Given the description of an element on the screen output the (x, y) to click on. 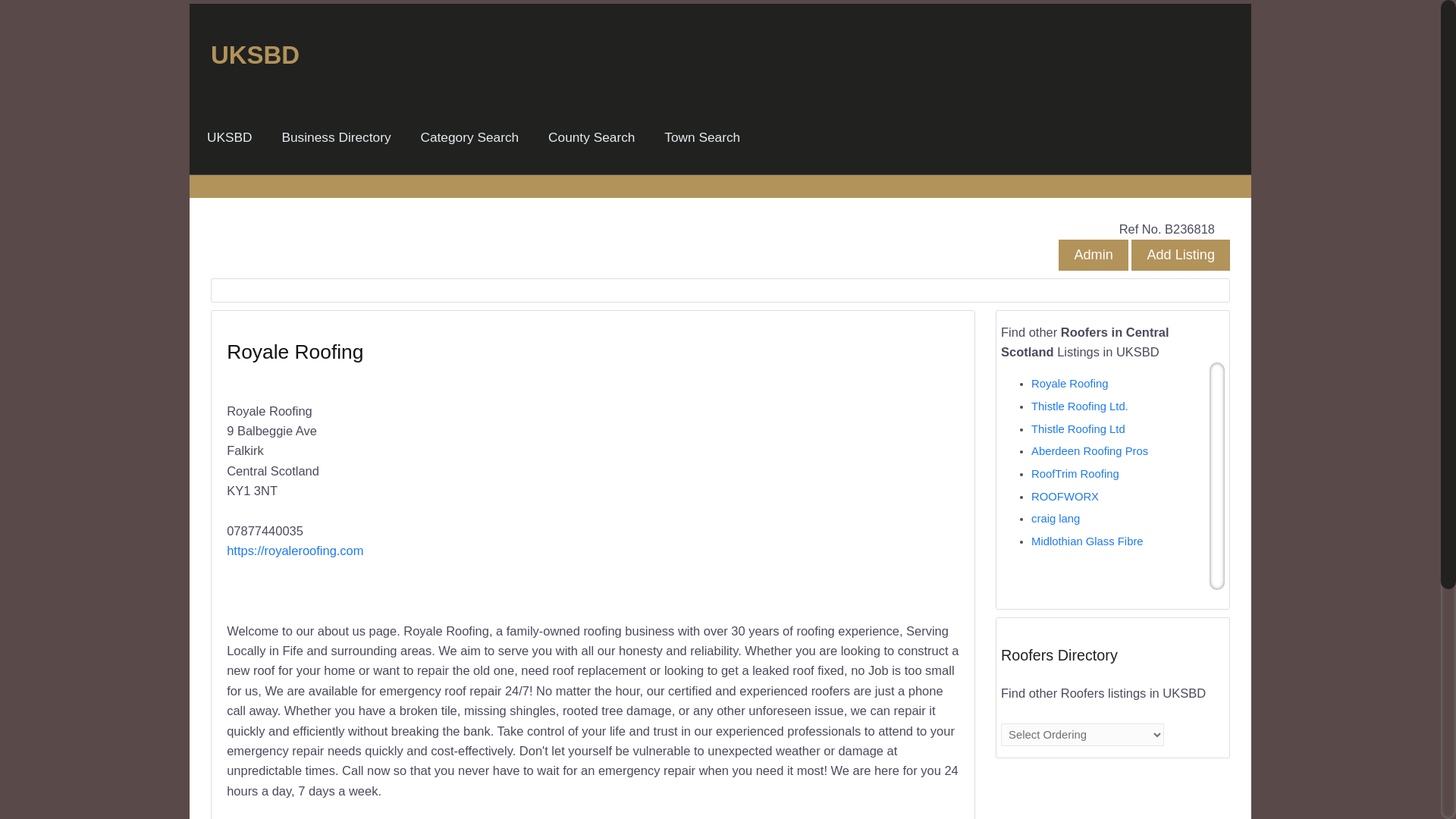
Advertisement (775, 486)
Town Search (702, 137)
Category Search (468, 137)
UKSBD (230, 137)
Aberdeen Roofing Pros (1089, 451)
Thistle Roofing Ltd. (1079, 406)
Midlothian Glass Fibre (1086, 541)
Add Listing (1180, 255)
Business Directory (335, 137)
County Search (590, 137)
Admin (1092, 254)
RoofTrim Roofing (1074, 473)
craig lang (1055, 518)
Thistle Roofing Ltd (1077, 428)
Royale Roofing (1069, 383)
